Given the description of an element on the screen output the (x, y) to click on. 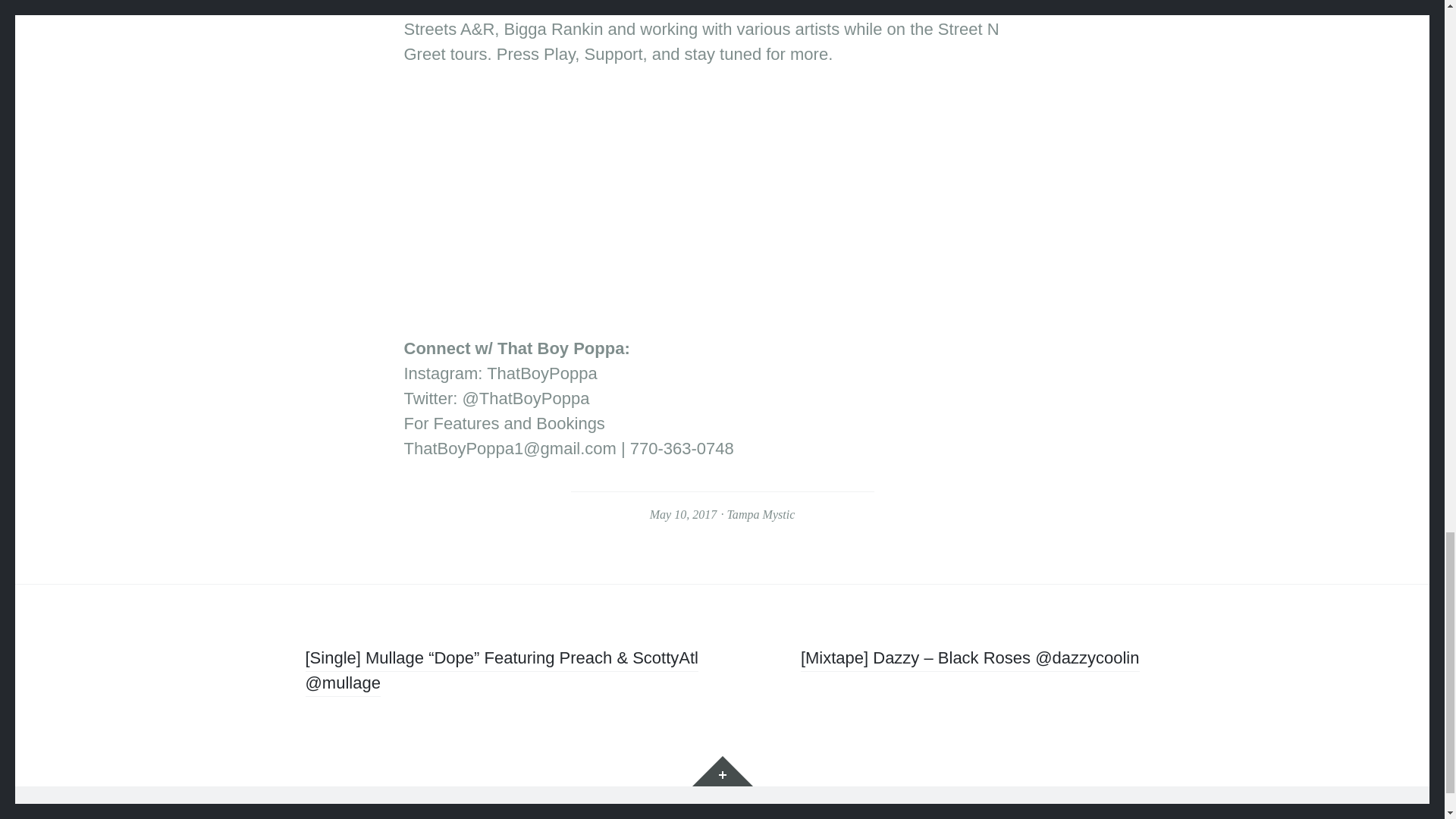
Tampa Mystic (760, 513)
Widgets (721, 770)
May 10, 2017 (683, 513)
